Given the description of an element on the screen output the (x, y) to click on. 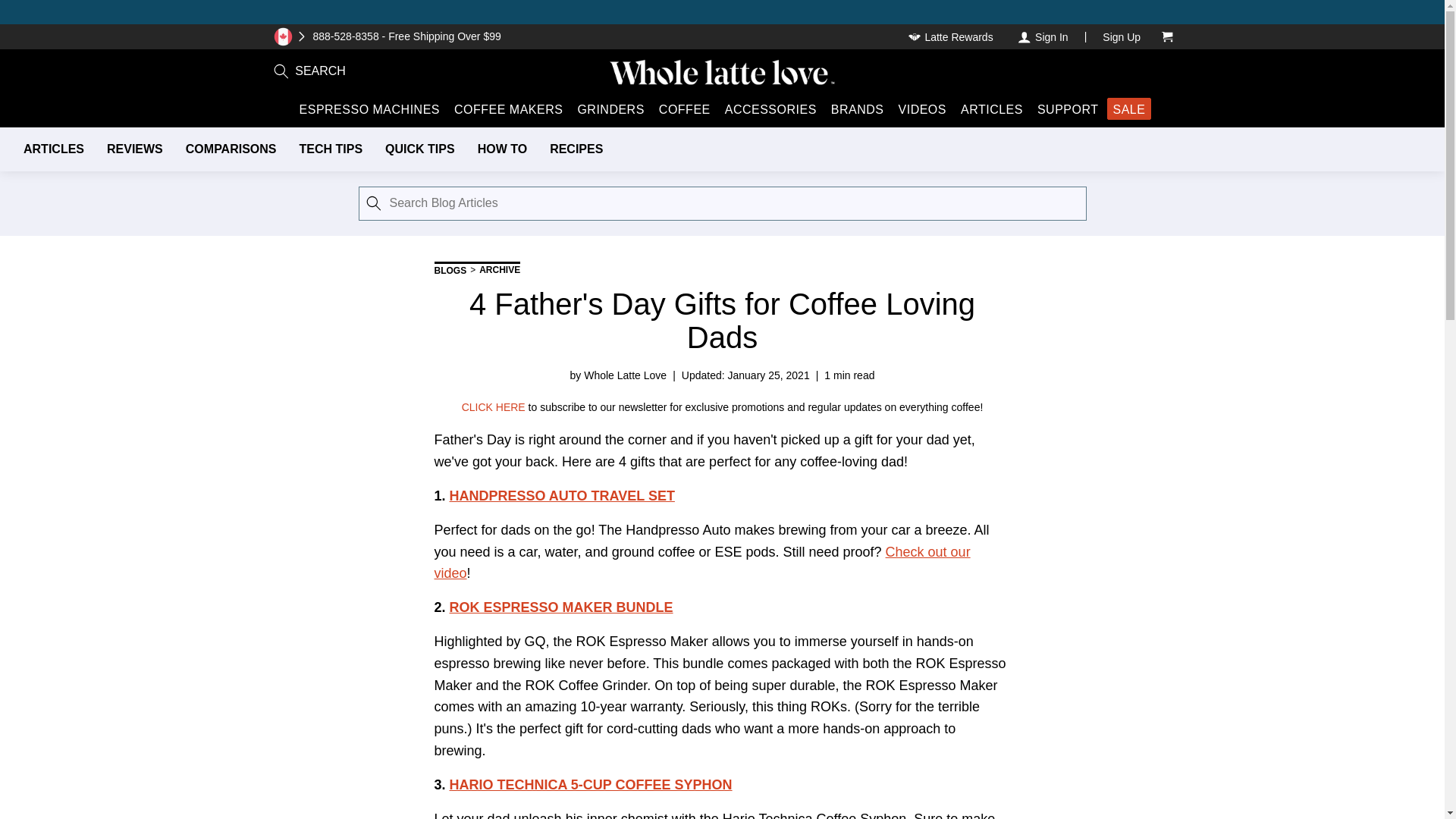
Sign Up (1120, 36)
Sign In (1042, 36)
Archive (499, 270)
Skip to content (24, 11)
Latte Rewards (952, 36)
Latte Rewards (952, 36)
Blog Home (449, 270)
